Given the description of an element on the screen output the (x, y) to click on. 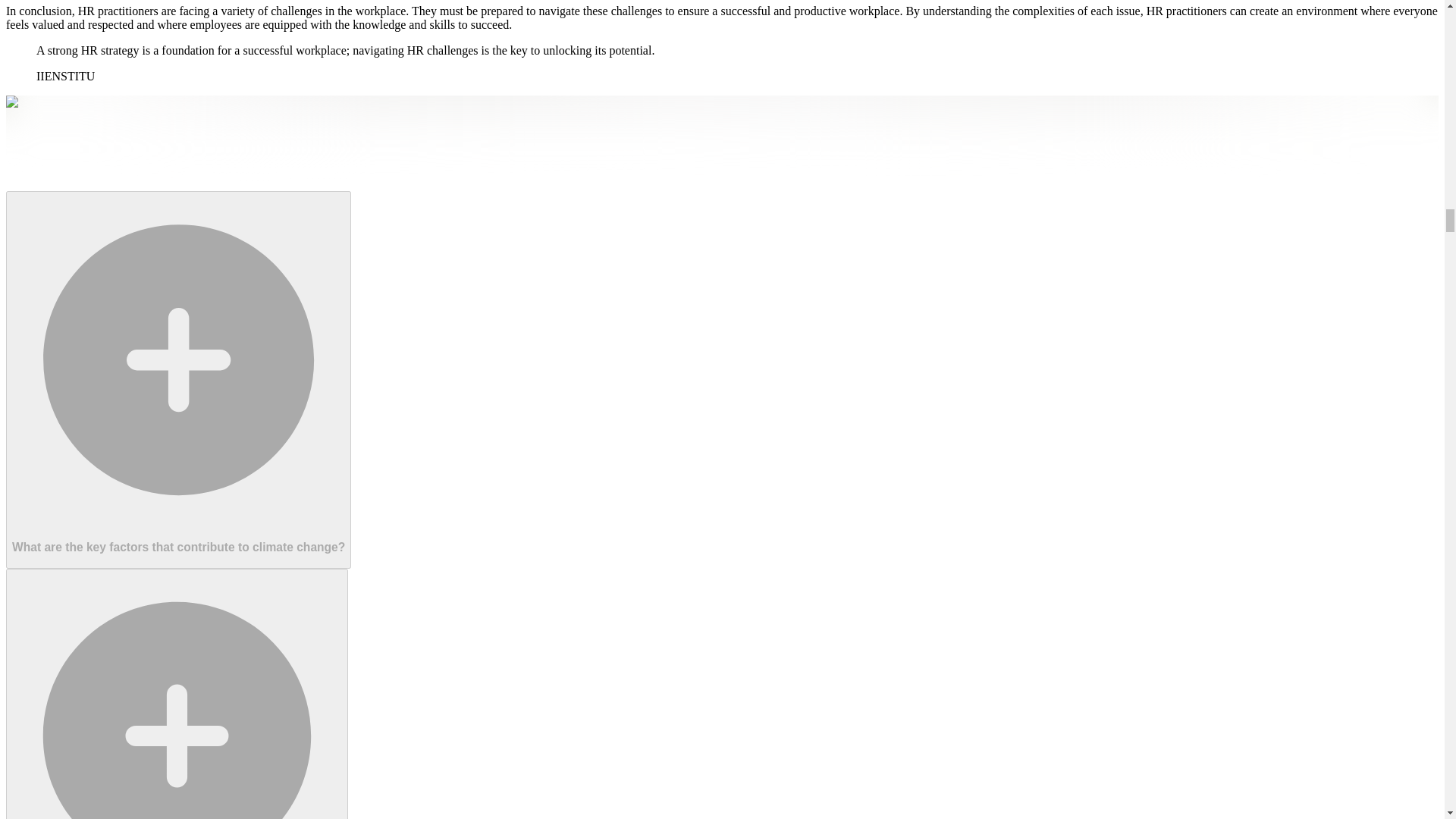
How does gender inequality manifest in different cultures? (176, 693)
What are the key factors that contribute to climate change? (177, 379)
